Given the description of an element on the screen output the (x, y) to click on. 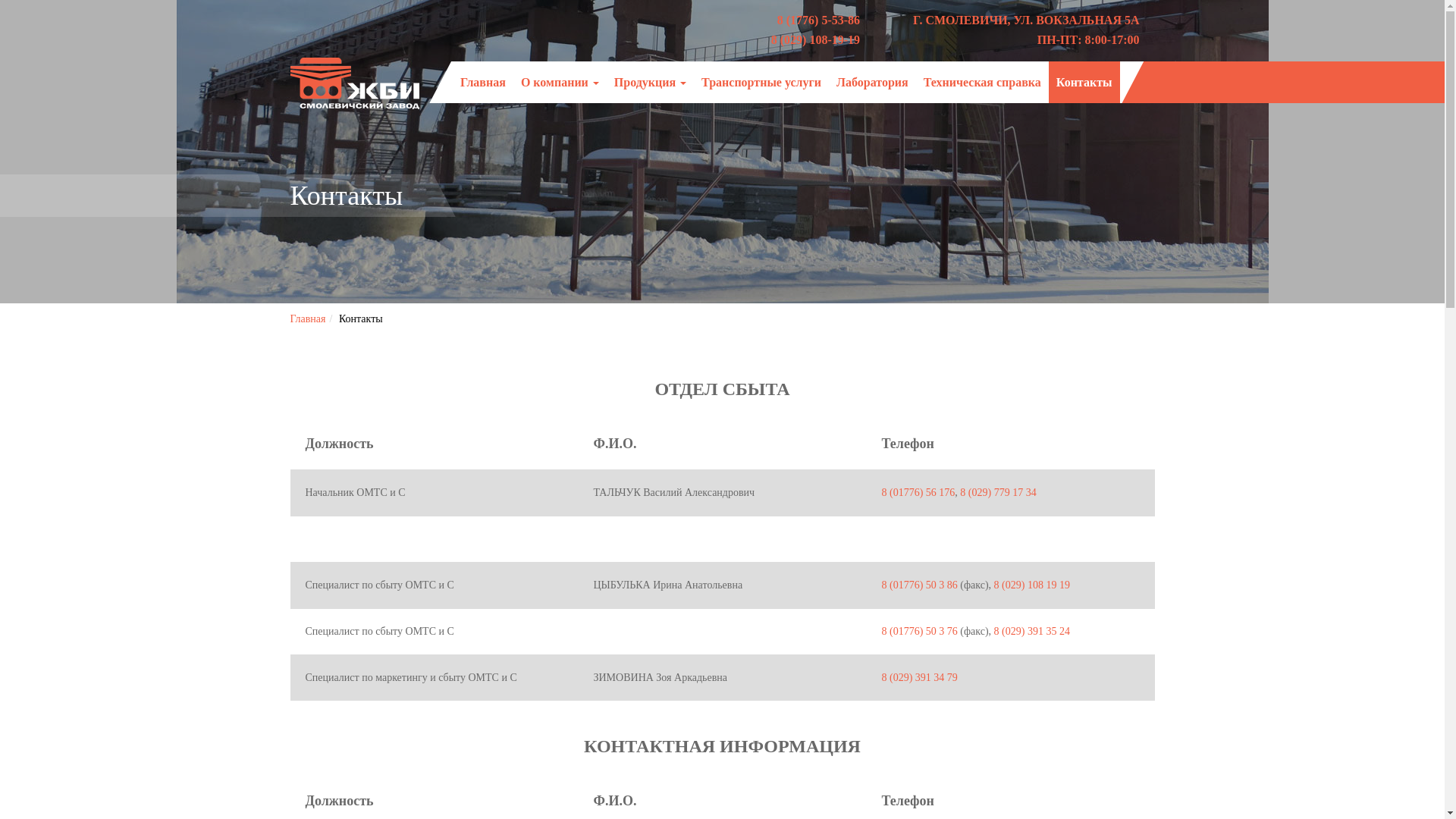
8 (029) 108-19-19 Element type: text (815, 39)
8 (029) 391 34 79 Element type: text (919, 677)
8 (01776) 56 176 Element type: text (917, 492)
8 (01776) 50 3 86 Element type: text (919, 584)
8 (1776) 5-53-86 Element type: text (818, 19)
8 (029) 391 35 24 Element type: text (1032, 631)
8 (029) 779 17 34 Element type: text (997, 492)
8 (01776) 50 3 76 Element type: text (919, 631)
8 (029) 108 19 19 Element type: text (1032, 584)
